Given the description of an element on the screen output the (x, y) to click on. 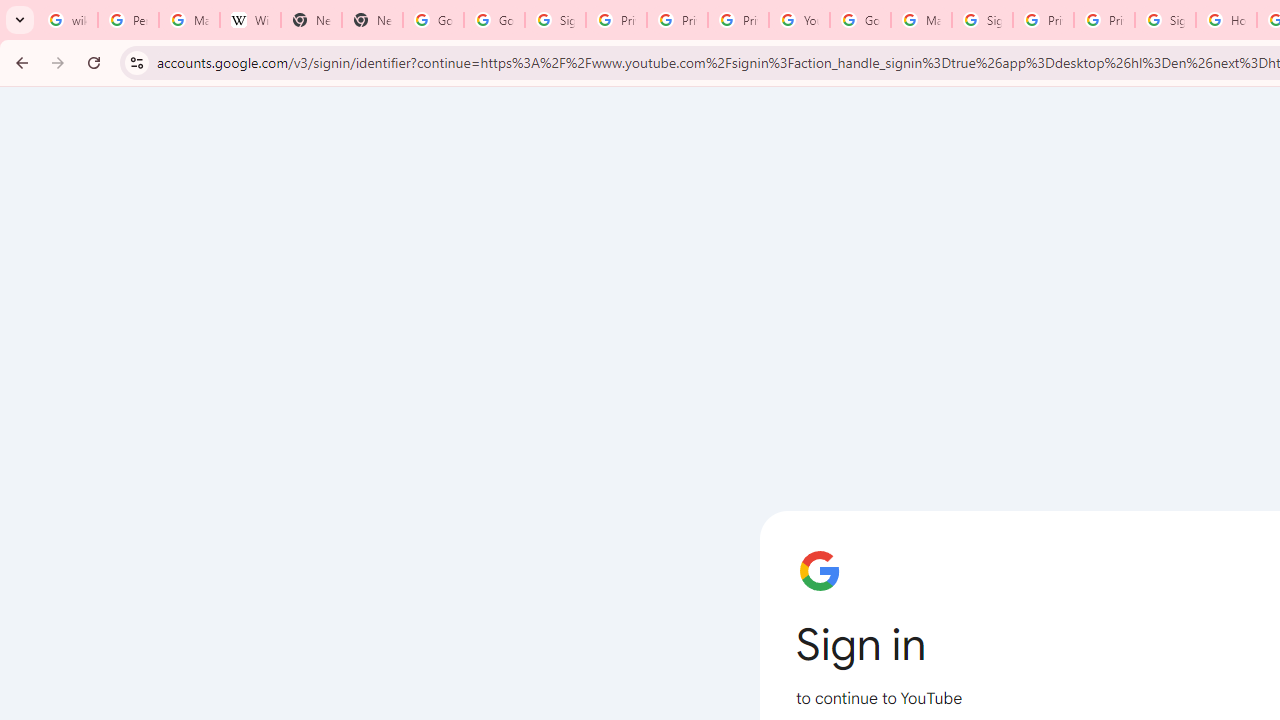
YouTube (799, 20)
Sign in - Google Accounts (1165, 20)
Wikipedia:Edit requests - Wikipedia (250, 20)
Manage your Location History - Google Search Help (189, 20)
Sign in - Google Accounts (982, 20)
Google Account Help (859, 20)
